Given the description of an element on the screen output the (x, y) to click on. 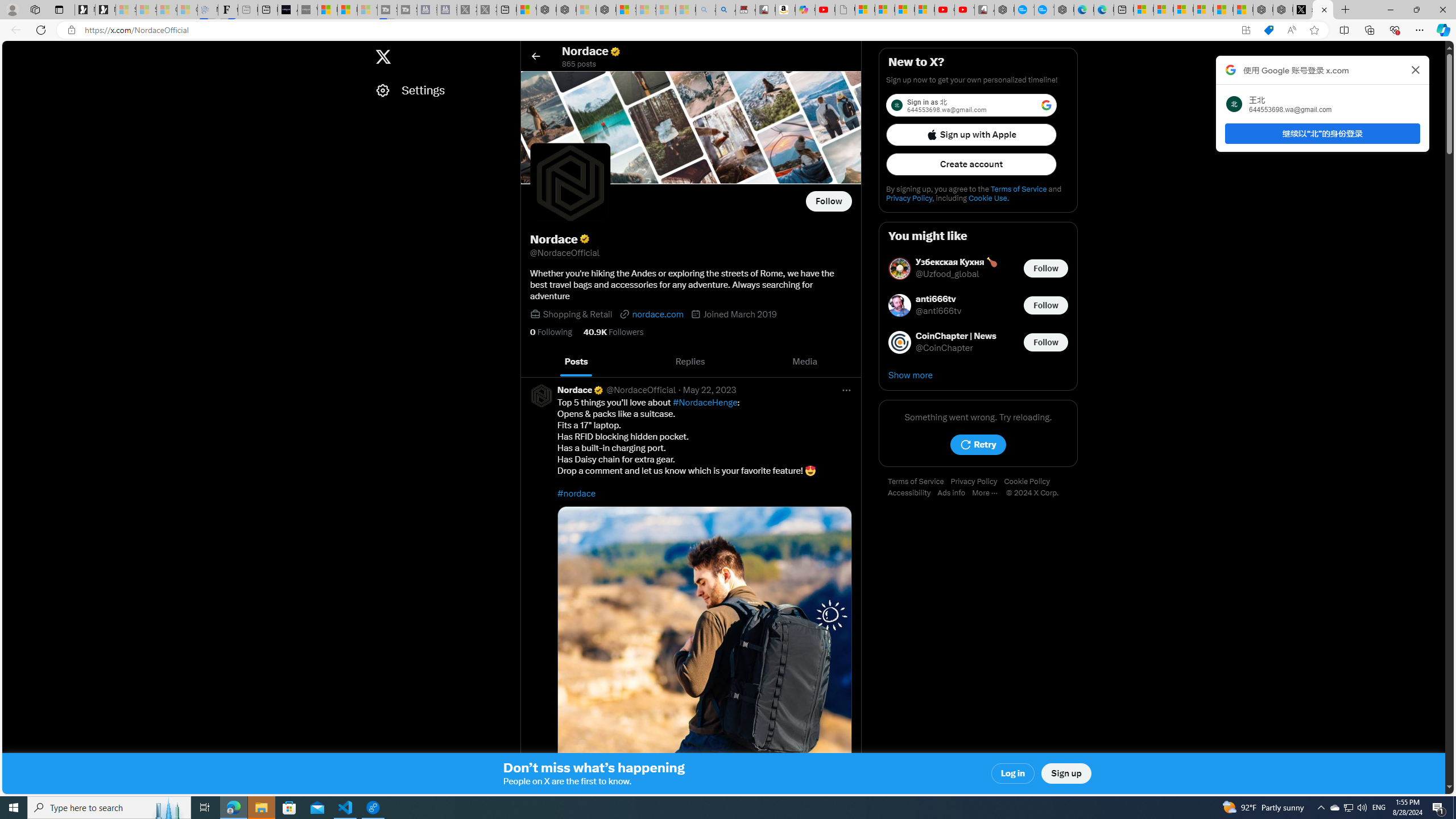
Cookie Policy (1030, 481)
Posts (576, 361)
Square profile picture and Opens profile photo (569, 182)
AI Voice Changer for PC and Mac - Voice.ai (287, 9)
Media (804, 361)
Shopping in Microsoft Edge (1268, 29)
Nordace - Nordace Siena Is Not An Ordinary Backpack (606, 9)
Skip to trending (12, 50)
Provides details about verified accounts. (583, 238)
